Given the description of an element on the screen output the (x, y) to click on. 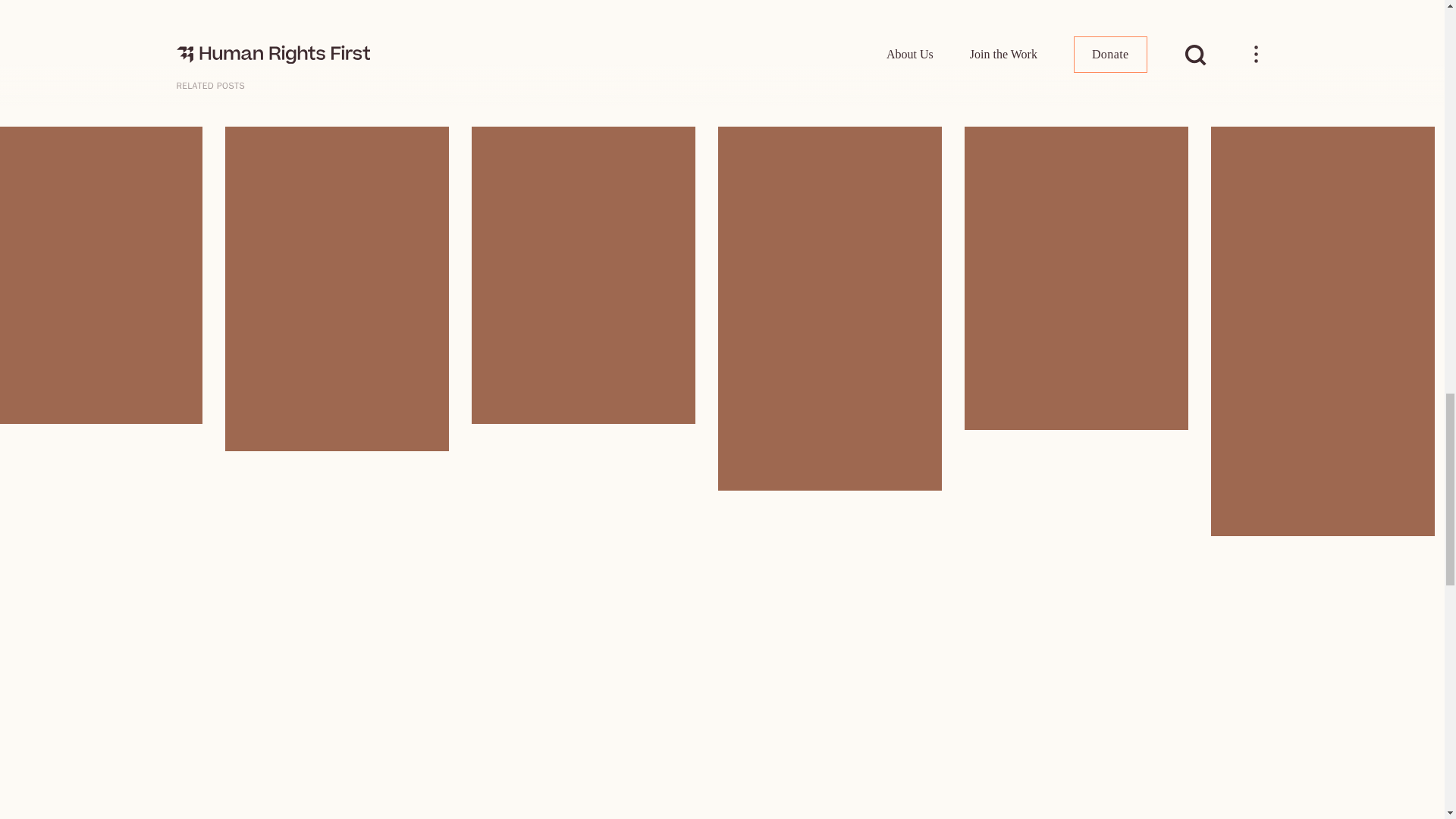
Previous (184, 132)
